Given the description of an element on the screen output the (x, y) to click on. 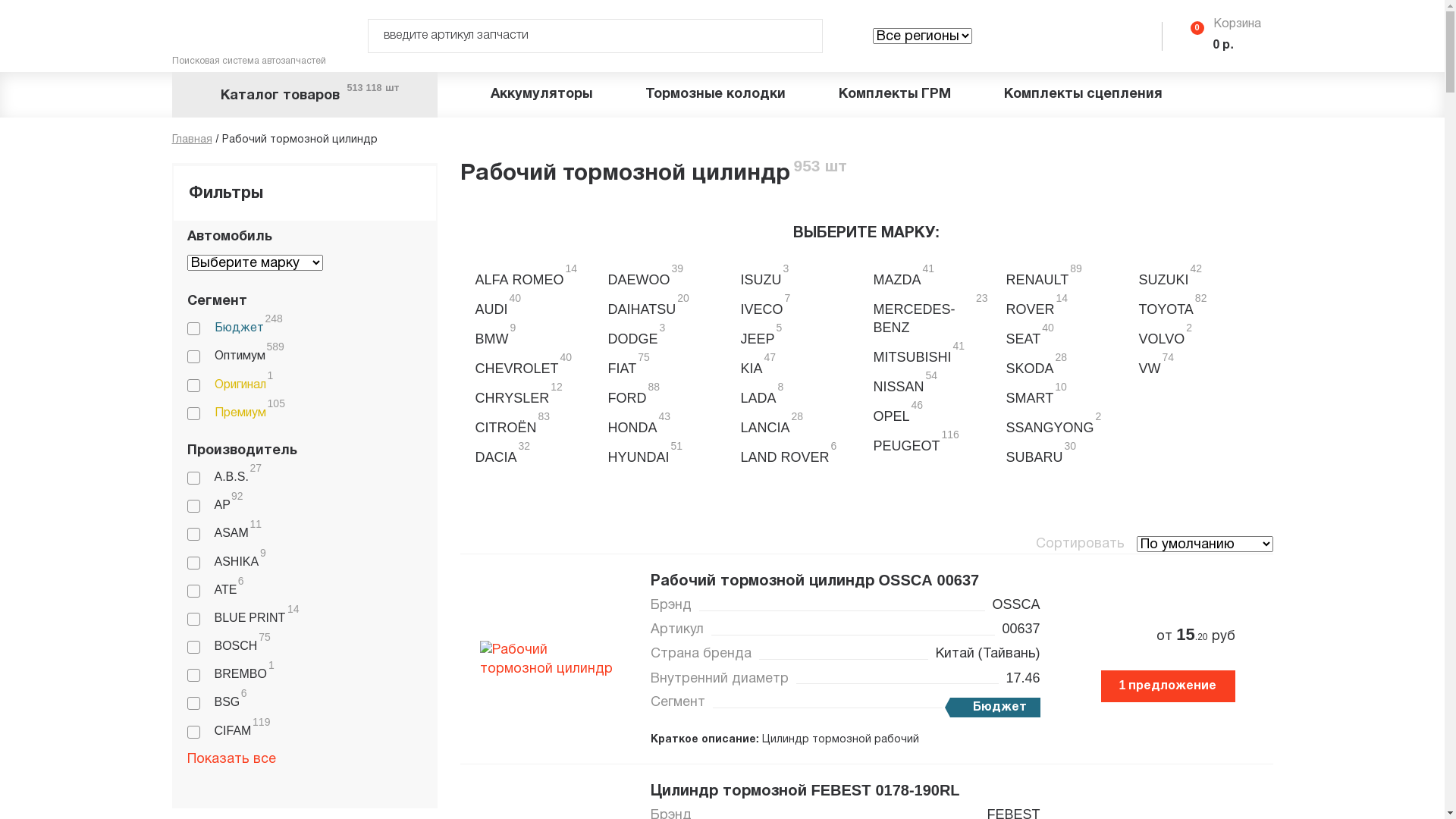
MAZDA
41 Element type: text (932, 275)
SSANGYONG
2 Element type: text (1064, 423)
HYUNDAI
51 Element type: text (667, 452)
ALFA ROMEO
14 Element type: text (533, 275)
SEAT
40 Element type: text (1064, 334)
VW
74 Element type: text (1198, 364)
MITSUBISHI
41 Element type: text (932, 352)
CHRYSLER
12 Element type: text (533, 393)
ROVER
14 Element type: text (1064, 305)
LADA
8 Element type: text (799, 393)
DAEWOO
39 Element type: text (667, 275)
KIA
47 Element type: text (799, 364)
HONDA
43 Element type: text (667, 423)
SUBARU
30 Element type: text (1064, 452)
AUDI
40 Element type: text (533, 305)
IVECO
7 Element type: text (799, 305)
ISUZU
3 Element type: text (799, 275)
FIAT
75 Element type: text (667, 364)
PEUGEOT
116 Element type: text (932, 441)
VOLVO
2 Element type: text (1198, 334)
DACIA
32 Element type: text (533, 452)
LANCIA
28 Element type: text (799, 423)
BMW
9 Element type: text (533, 334)
DAIHATSU
20 Element type: text (667, 305)
NISSAN
54 Element type: text (932, 382)
FORD
88 Element type: text (667, 393)
DODGE
3 Element type: text (667, 334)
TOYOTA
82 Element type: text (1198, 305)
MERCEDES-BENZ
23 Element type: text (932, 314)
CHEVROLET
40 Element type: text (533, 364)
JEEP
5 Element type: text (799, 334)
RENAULT
89 Element type: text (1064, 275)
LAND ROVER
6 Element type: text (799, 452)
SUZUKI
42 Element type: text (1198, 275)
SMART
10 Element type: text (1064, 393)
SKODA
28 Element type: text (1064, 364)
OPEL
46 Element type: text (932, 411)
